Given the description of an element on the screen output the (x, y) to click on. 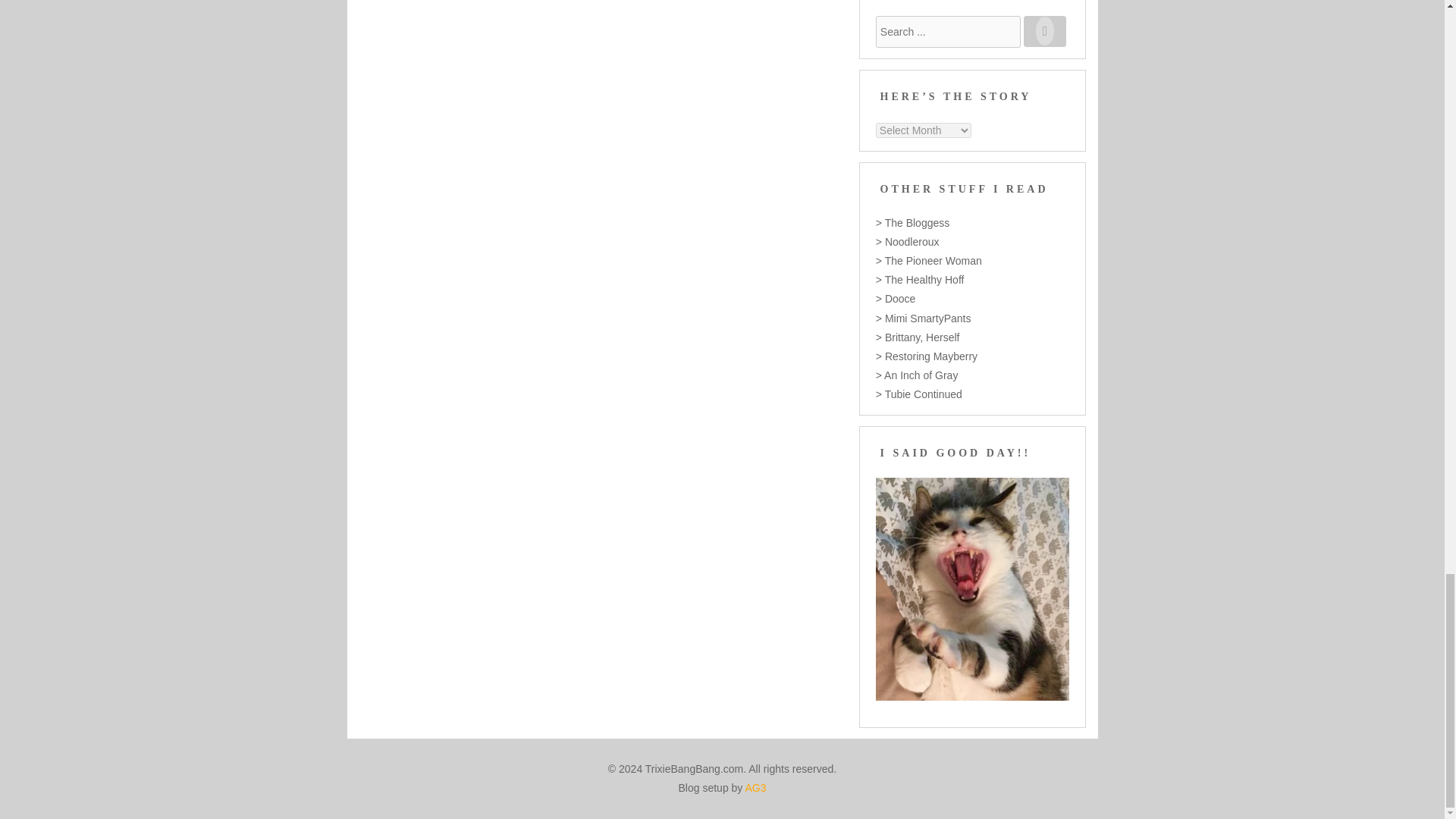
AG3 (754, 787)
